Given the description of an element on the screen output the (x, y) to click on. 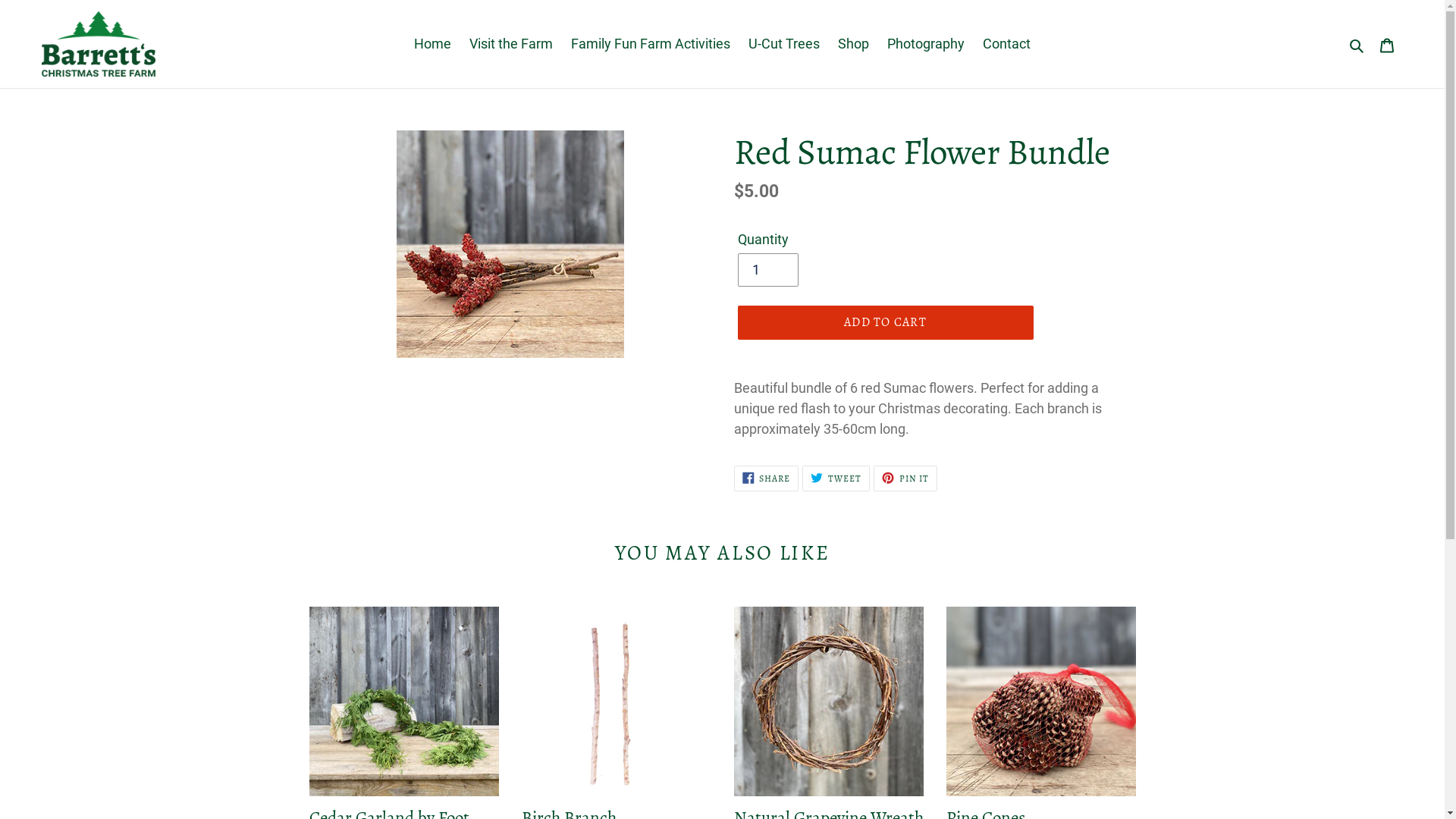
Photography Element type: text (925, 43)
PIN IT
PIN ON PINTEREST Element type: text (905, 477)
Contact Element type: text (1006, 43)
Cart Element type: text (1386, 43)
SHARE
SHARE ON FACEBOOK Element type: text (766, 477)
Search Element type: text (1357, 43)
TWEET
TWEET ON TWITTER Element type: text (835, 477)
U-Cut Trees Element type: text (783, 43)
Family Fun Farm Activities Element type: text (650, 43)
ADD TO CART Element type: text (884, 321)
Shop Element type: text (853, 43)
Home Element type: text (432, 43)
Visit the Farm Element type: text (510, 43)
